Given the description of an element on the screen output the (x, y) to click on. 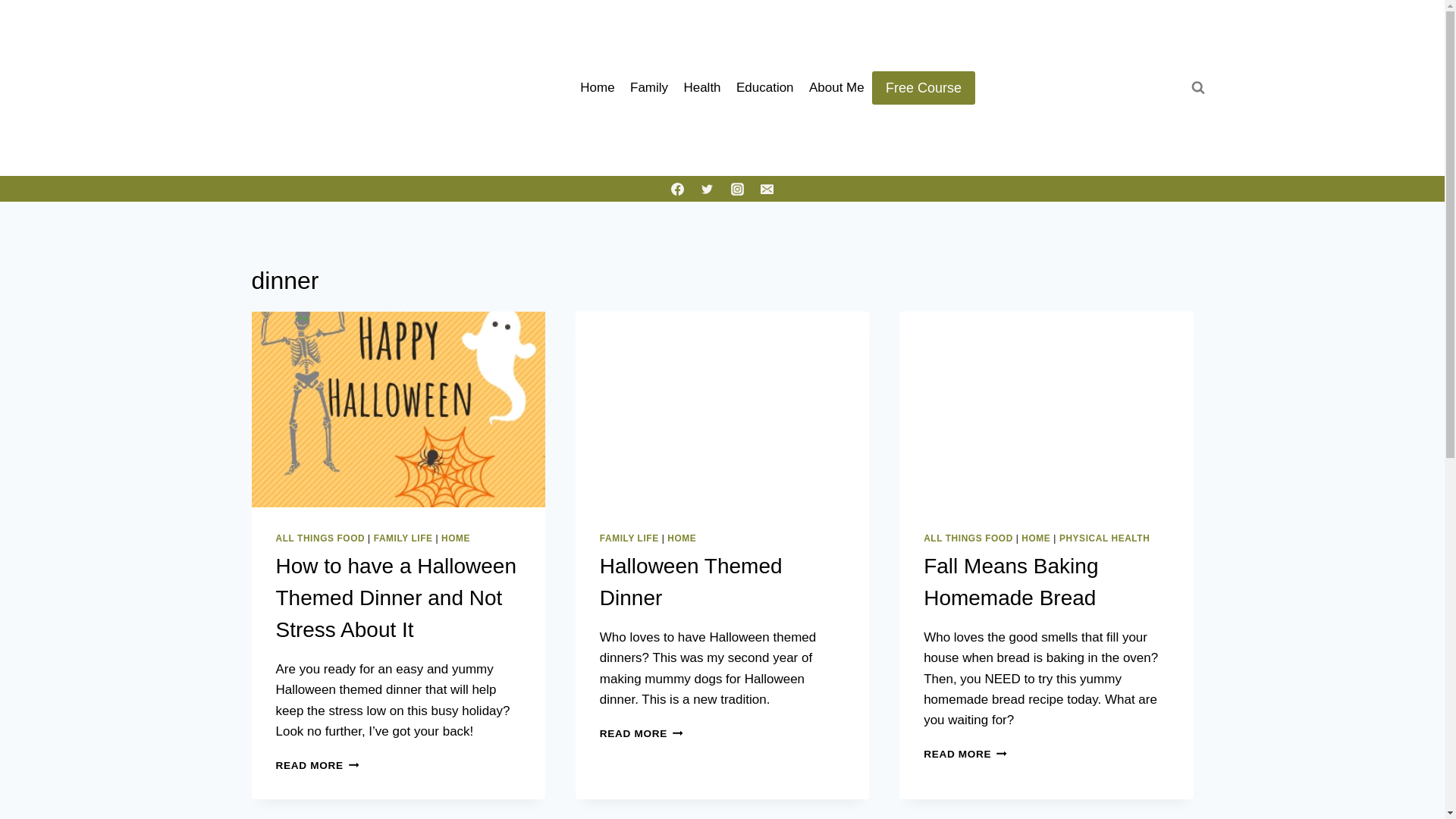
About Me (837, 87)
HOME (680, 538)
ALL THINGS FOOD (965, 754)
Free Course (320, 538)
HOME (923, 87)
PHYSICAL HEALTH (1035, 538)
Fall Means Baking Homemade Bread (1104, 538)
Education (640, 733)
Health (1010, 581)
ALL THINGS FOOD (765, 87)
FAMILY LIFE (702, 87)
FAMILY LIFE (968, 538)
